Given the description of an element on the screen output the (x, y) to click on. 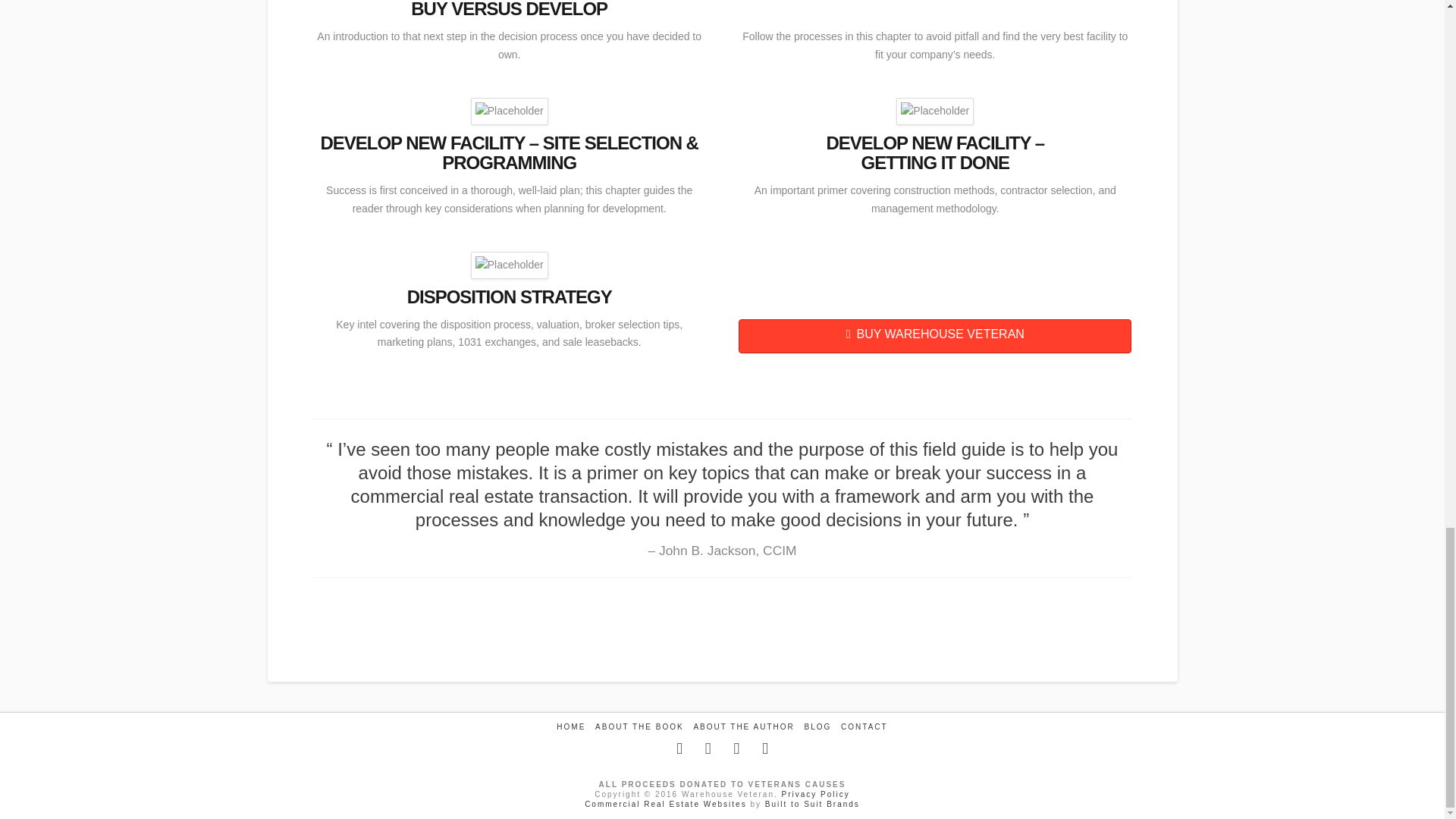
ABOUT THE BOOK (639, 726)
LinkedIn (707, 748)
Built to Suit Brands (812, 804)
Commercial Real Estate Websites (665, 804)
HOME (570, 726)
YouTube (736, 748)
BUY WAREHOUSE VETERAN (934, 335)
BLOG (818, 726)
RSS (764, 748)
PRIVACY POLICY (815, 794)
Privacy Policy (815, 794)
ABOUT THE AUTHOR (743, 726)
Facebook (679, 748)
CONTACT (864, 726)
